Given the description of an element on the screen output the (x, y) to click on. 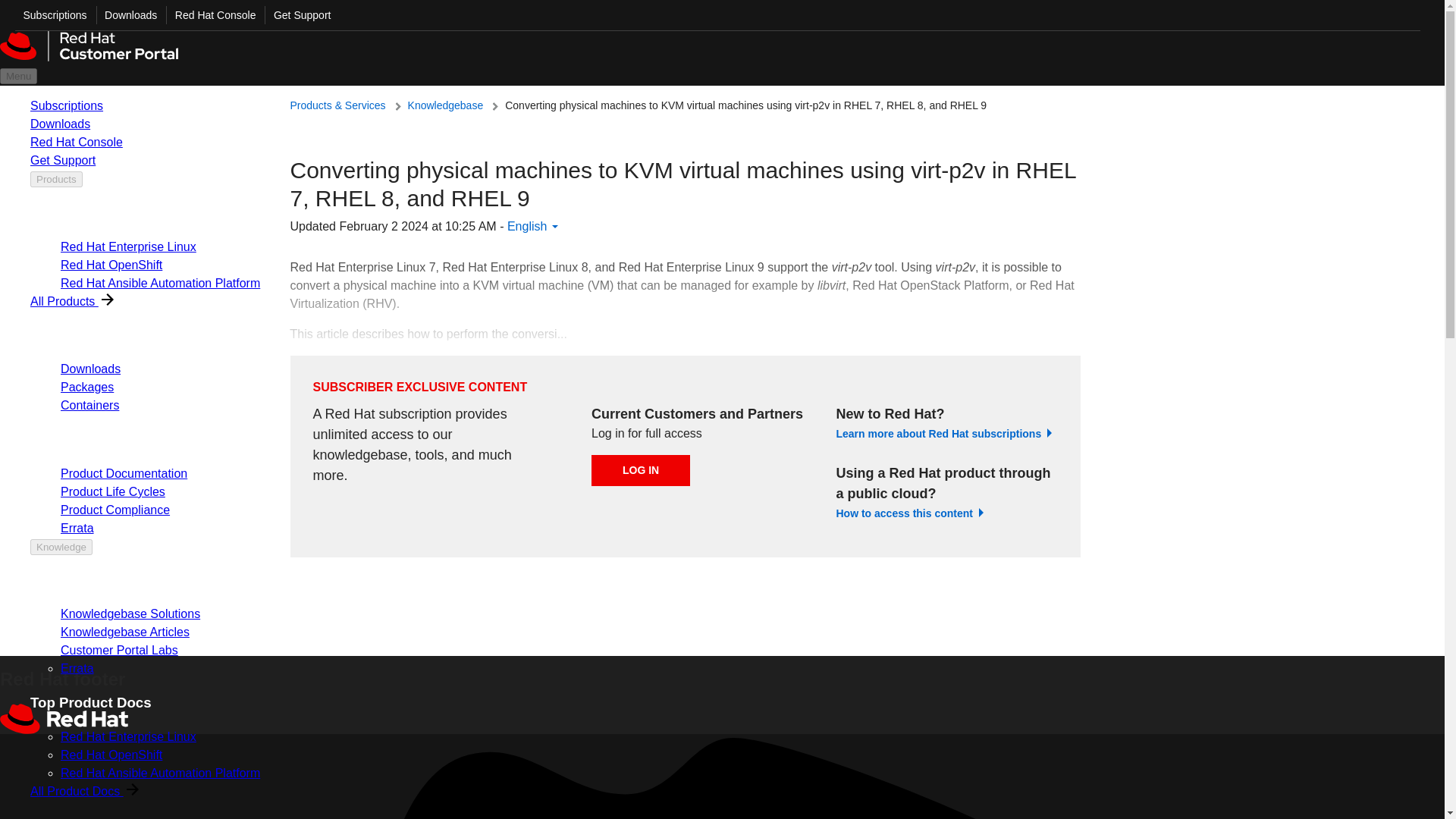
Red Hat Console (210, 14)
Downloads (126, 14)
Get Support (297, 14)
Subscriptions (50, 14)
F5bruamry 2 2024 amt 10:25 AM2 (417, 226)
